Given the description of an element on the screen output the (x, y) to click on. 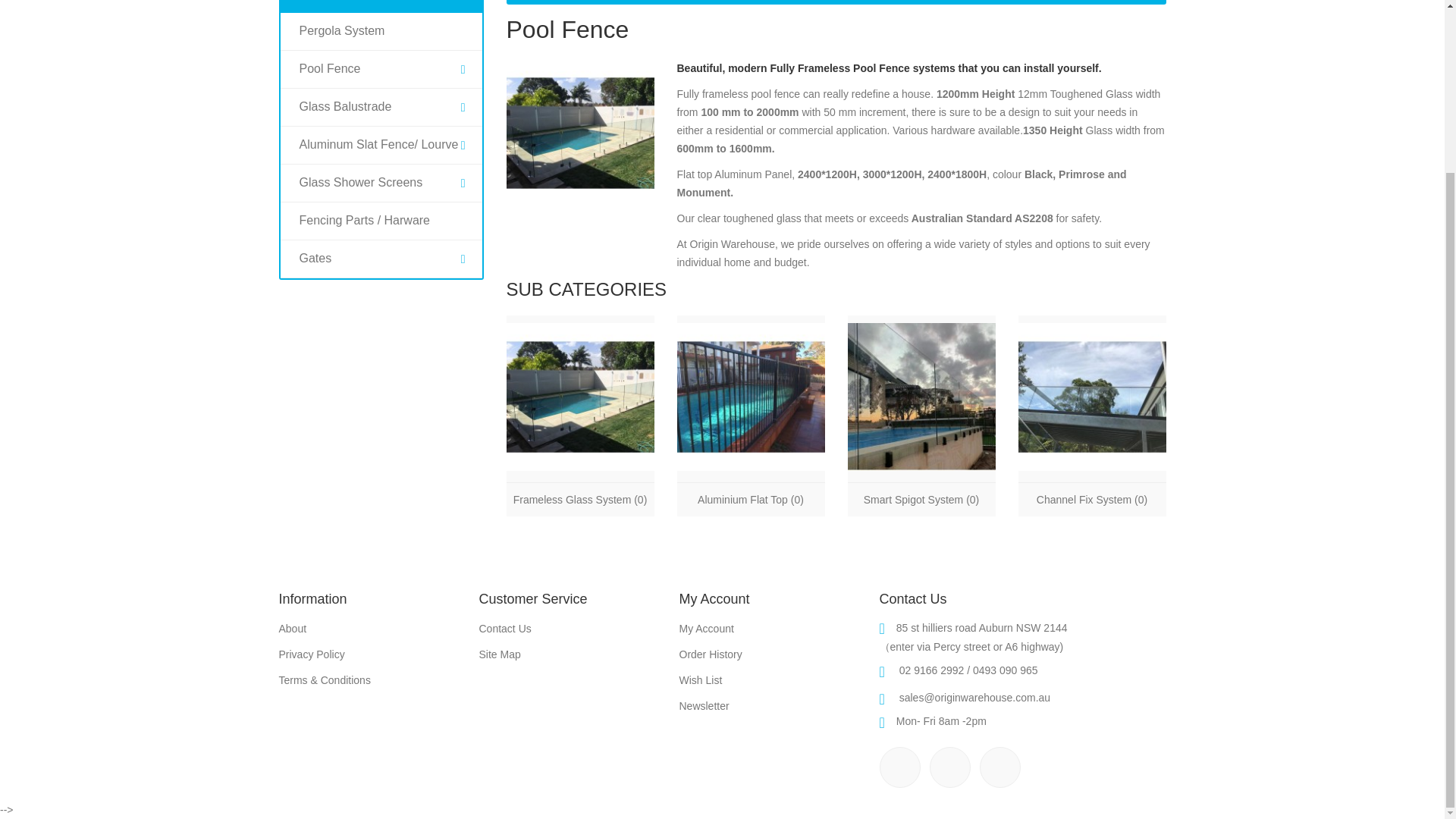
Pool Fence (579, 132)
